Given the description of an element on the screen output the (x, y) to click on. 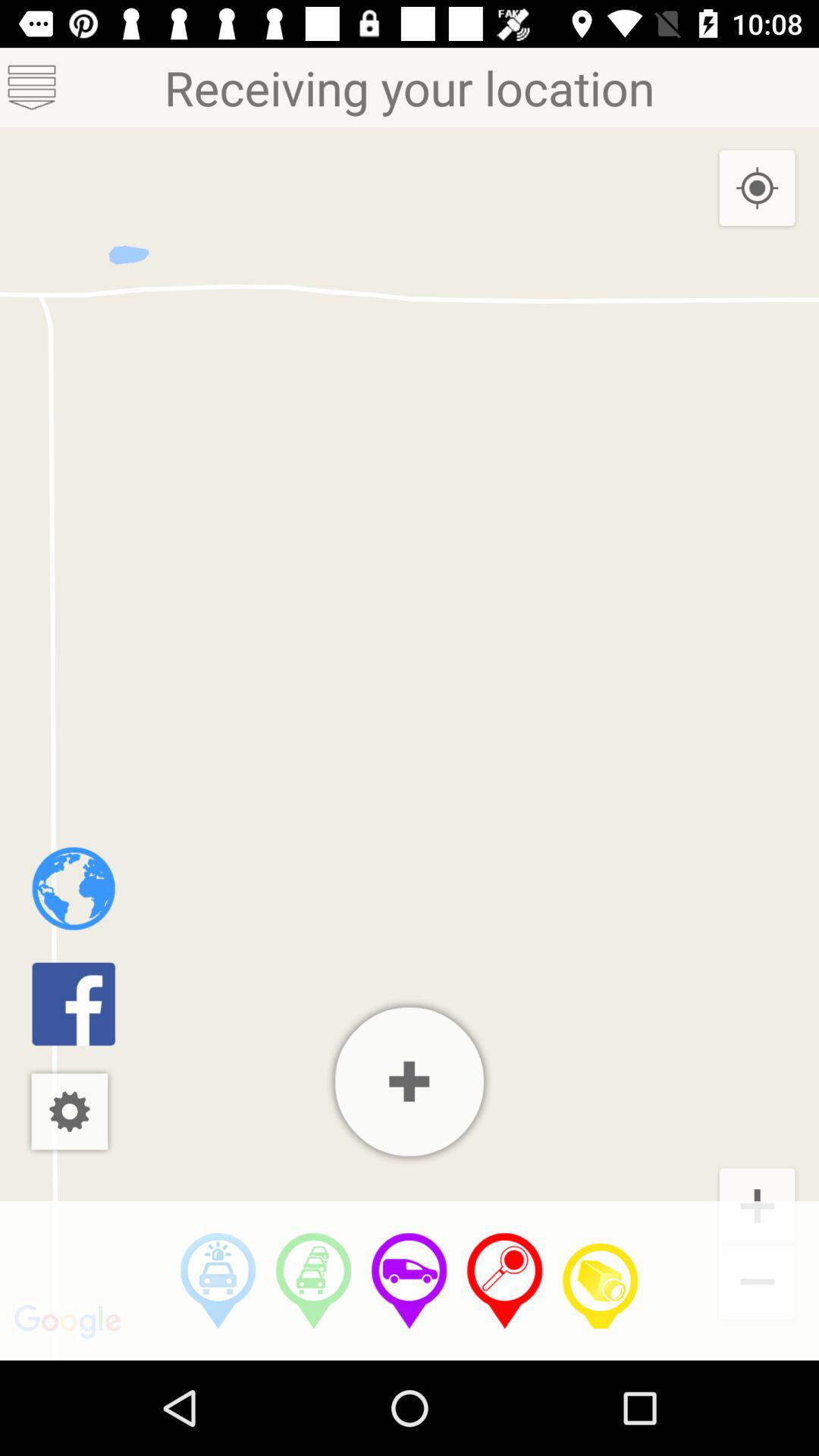
select carpool option (313, 1280)
